Given the description of an element on the screen output the (x, y) to click on. 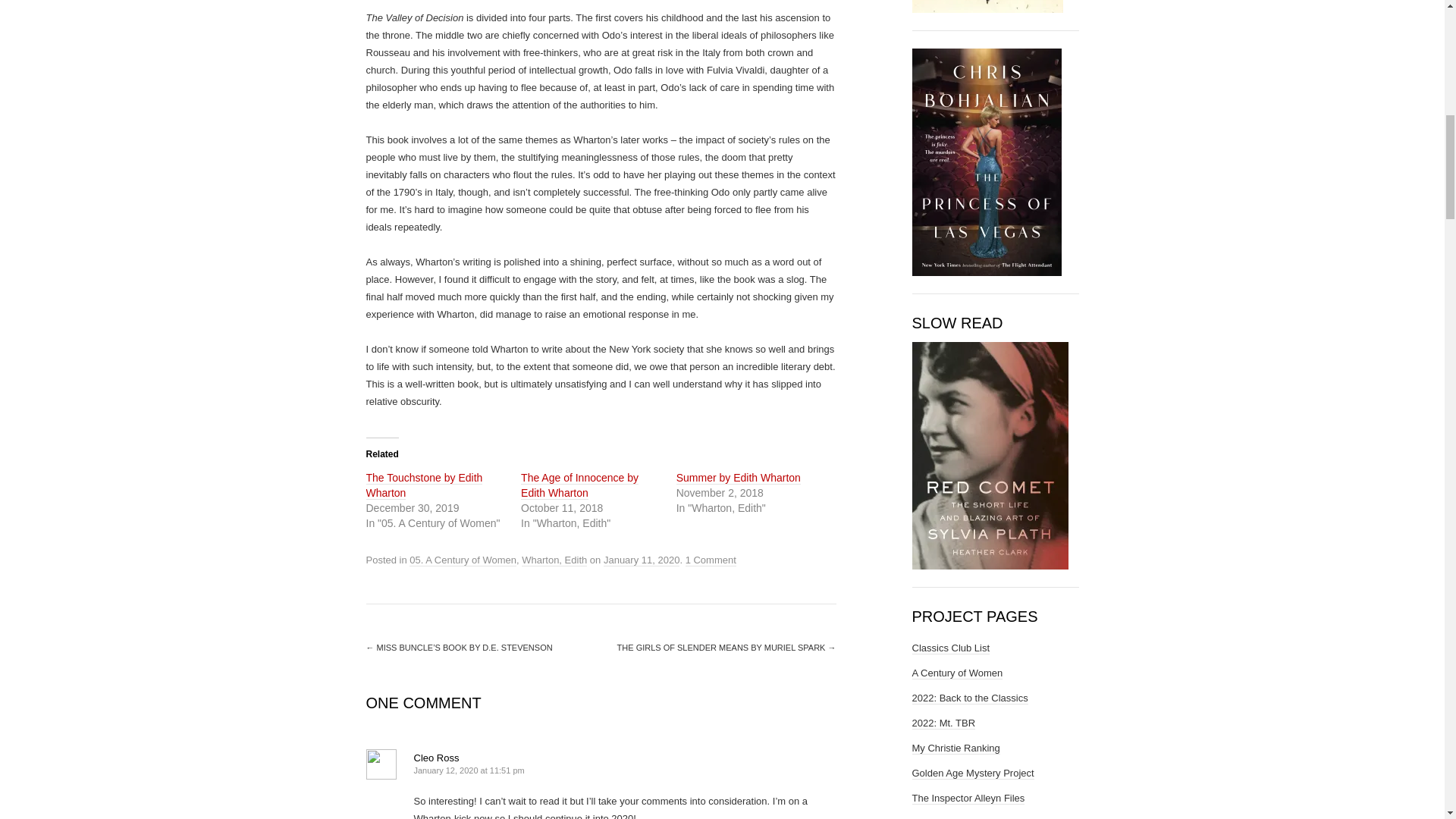
Wharton, Edith (553, 560)
The Touchstone by Edith Wharton (423, 485)
The Touchstone by Edith Wharton (423, 485)
My Christie Ranking (954, 747)
Classics Club List (950, 647)
The Age of Innocence by Edith Wharton (580, 485)
2022: Back to the Classics (969, 697)
The Age of Innocence by Edith Wharton (580, 485)
1 Comment (710, 560)
Summer by Edith Wharton (738, 477)
Summer by Edith Wharton (738, 477)
January 12, 2020 at 11:51 pm (468, 769)
05. A Century of Women (462, 560)
A Century of Women (957, 673)
Inspector Maigret (949, 818)
